Given the description of an element on the screen output the (x, y) to click on. 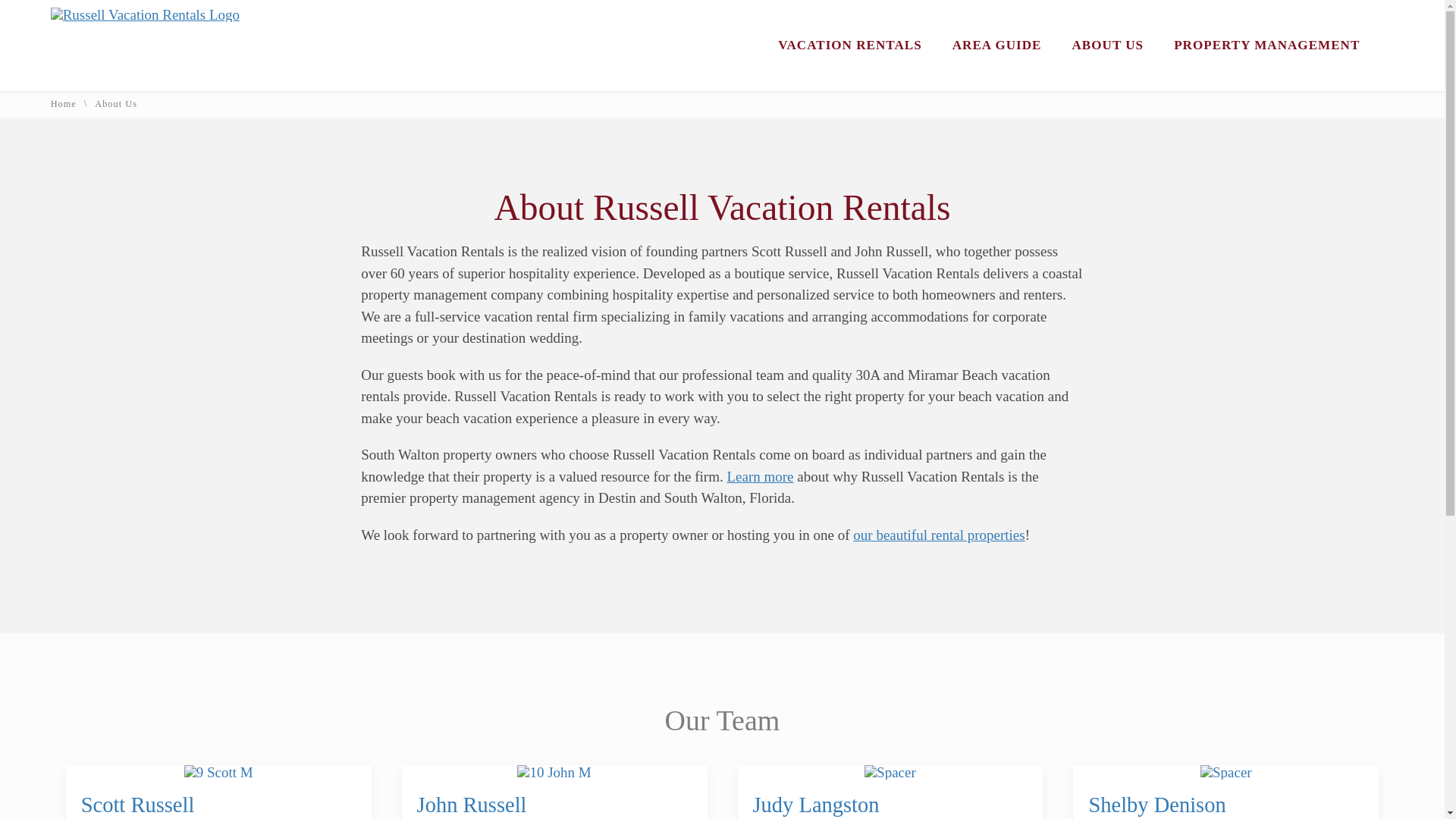
Learn more (759, 476)
our beautiful rental properties (939, 534)
Russell Vacation Rentals (145, 14)
Russell Vacation Rentals (145, 14)
Vacation Rentals (849, 44)
AREA GUIDE (997, 44)
Scott Russell (138, 804)
PROPERTY MANAGEMENT (1266, 44)
Home (63, 103)
Area Guide (997, 44)
